Given the description of an element on the screen output the (x, y) to click on. 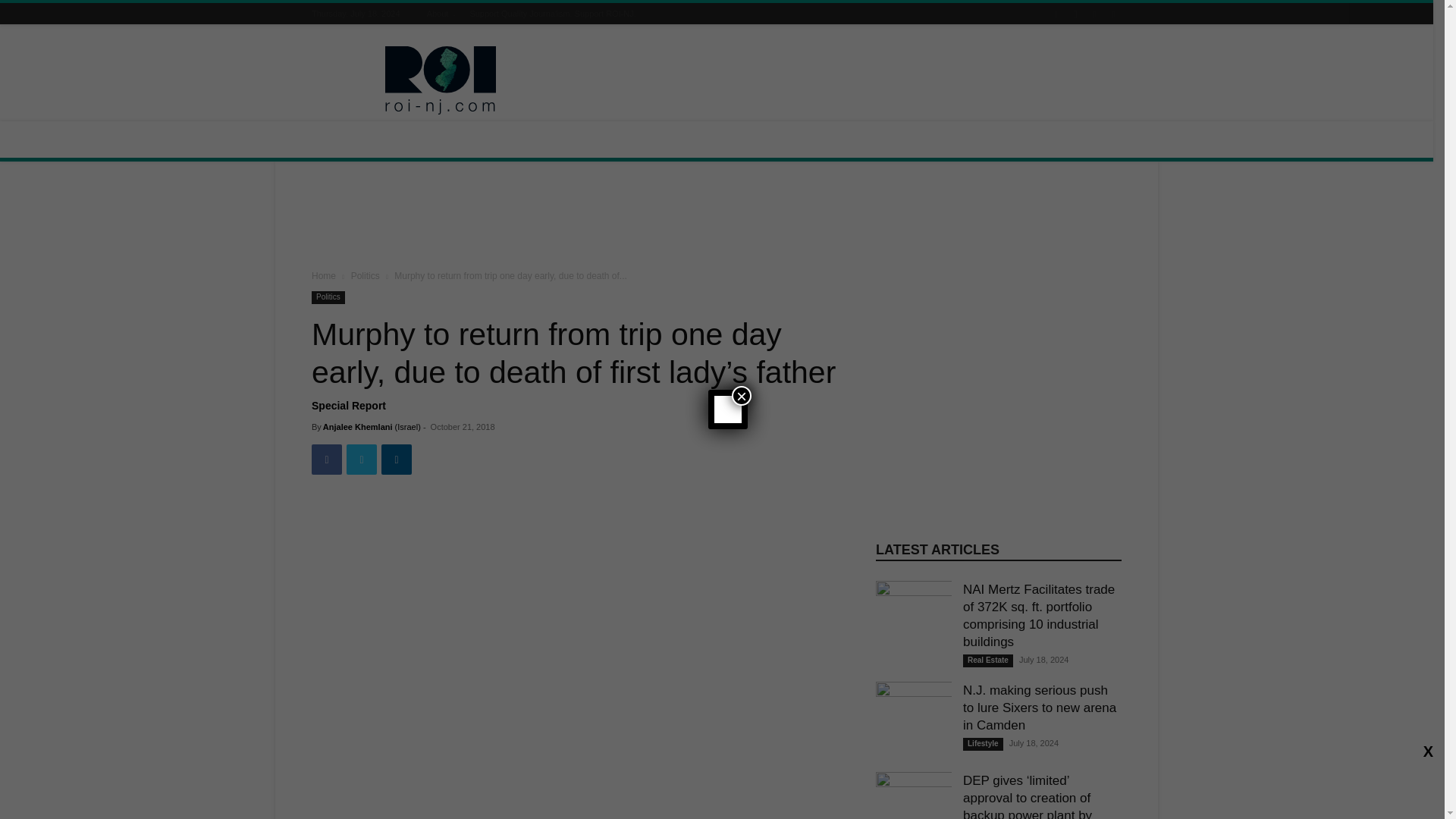
3rd party ad content (716, 218)
Twitter (361, 459)
View all posts in Politics (365, 276)
3rd party ad content (845, 79)
Facebook (326, 459)
Linkedin (396, 459)
